Given the description of an element on the screen output the (x, y) to click on. 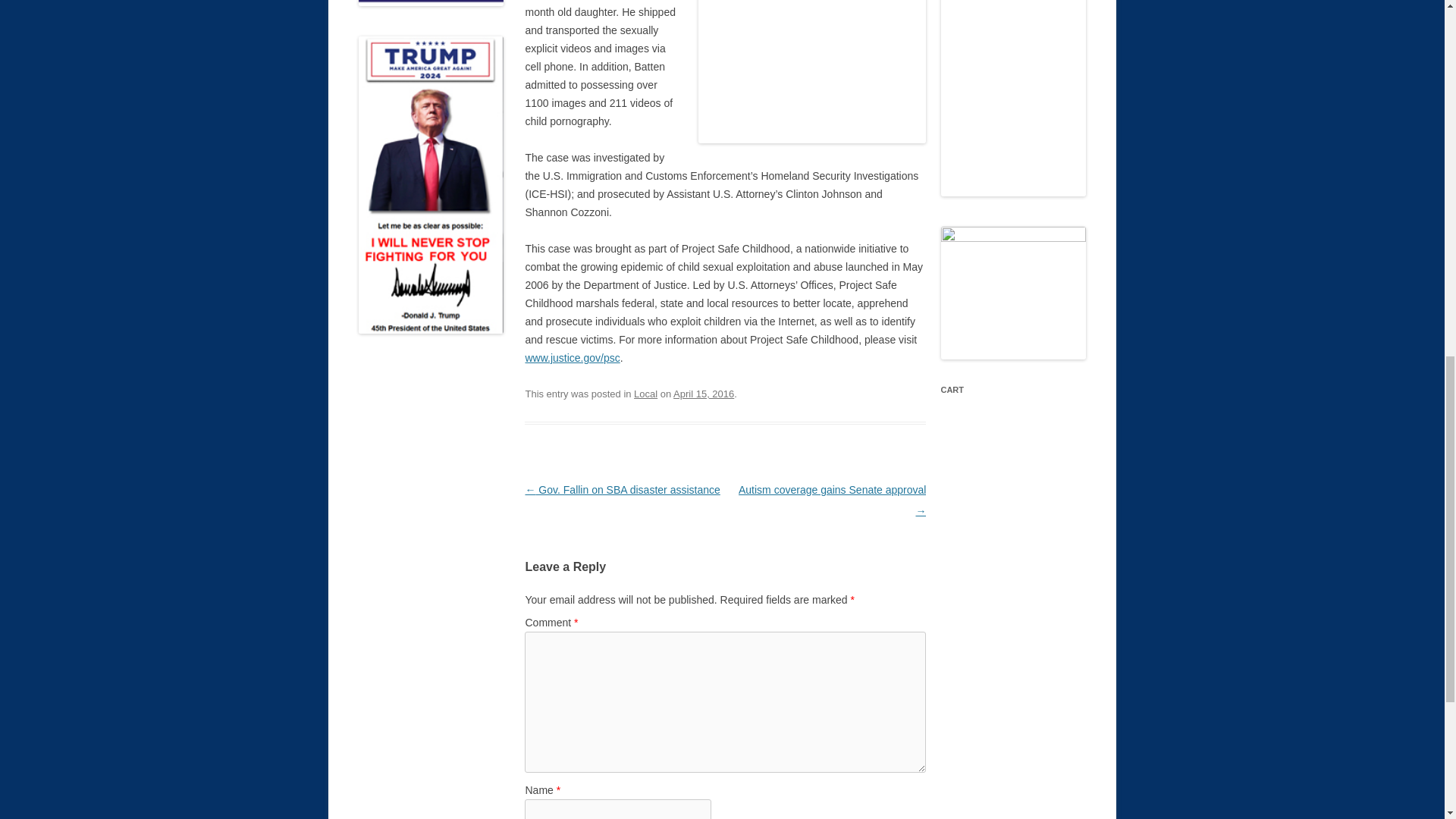
Local (645, 393)
April 15, 2016 (702, 393)
12:36 pm (702, 393)
